Given the description of an element on the screen output the (x, y) to click on. 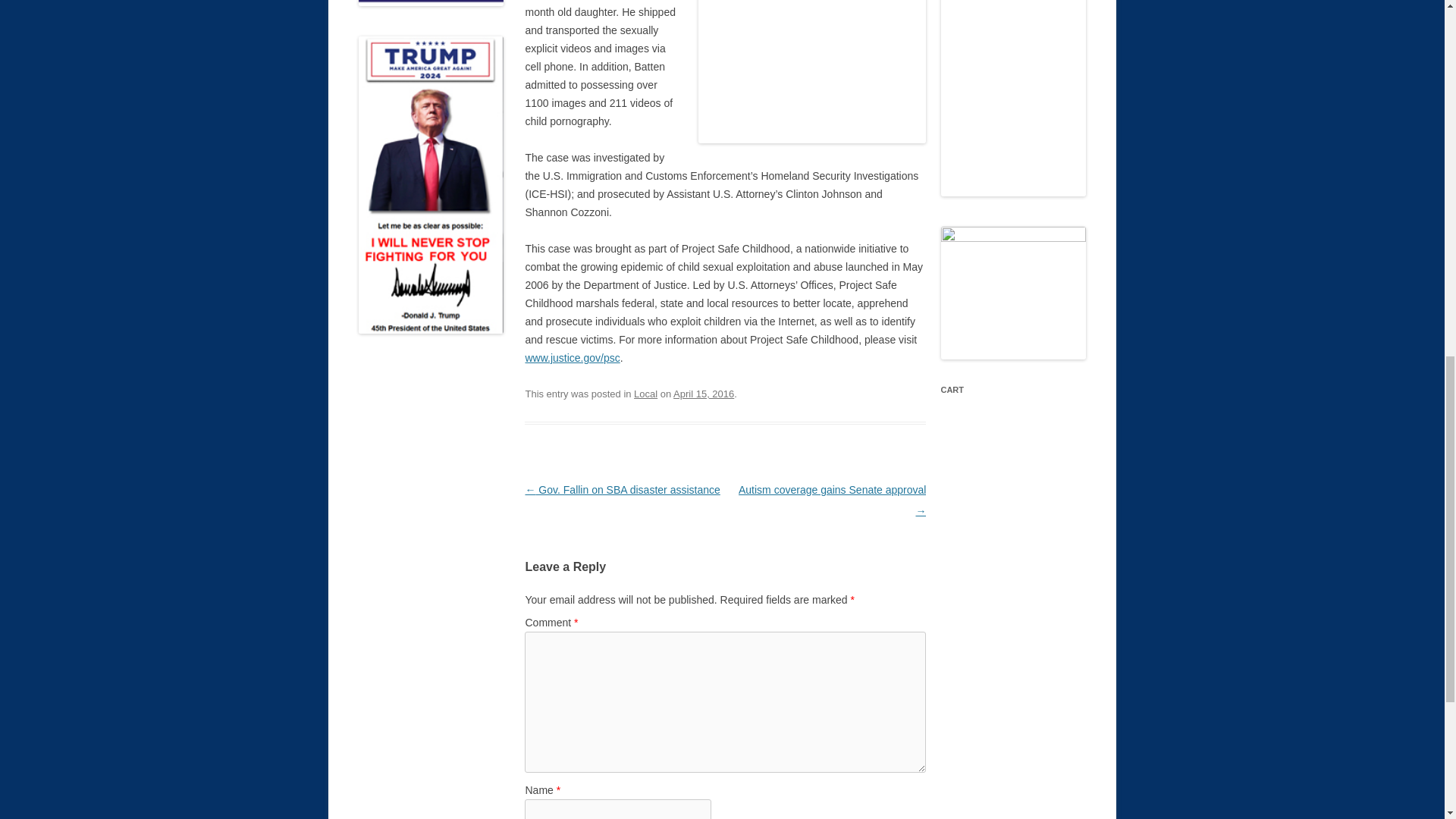
Local (645, 393)
April 15, 2016 (702, 393)
12:36 pm (702, 393)
